Given the description of an element on the screen output the (x, y) to click on. 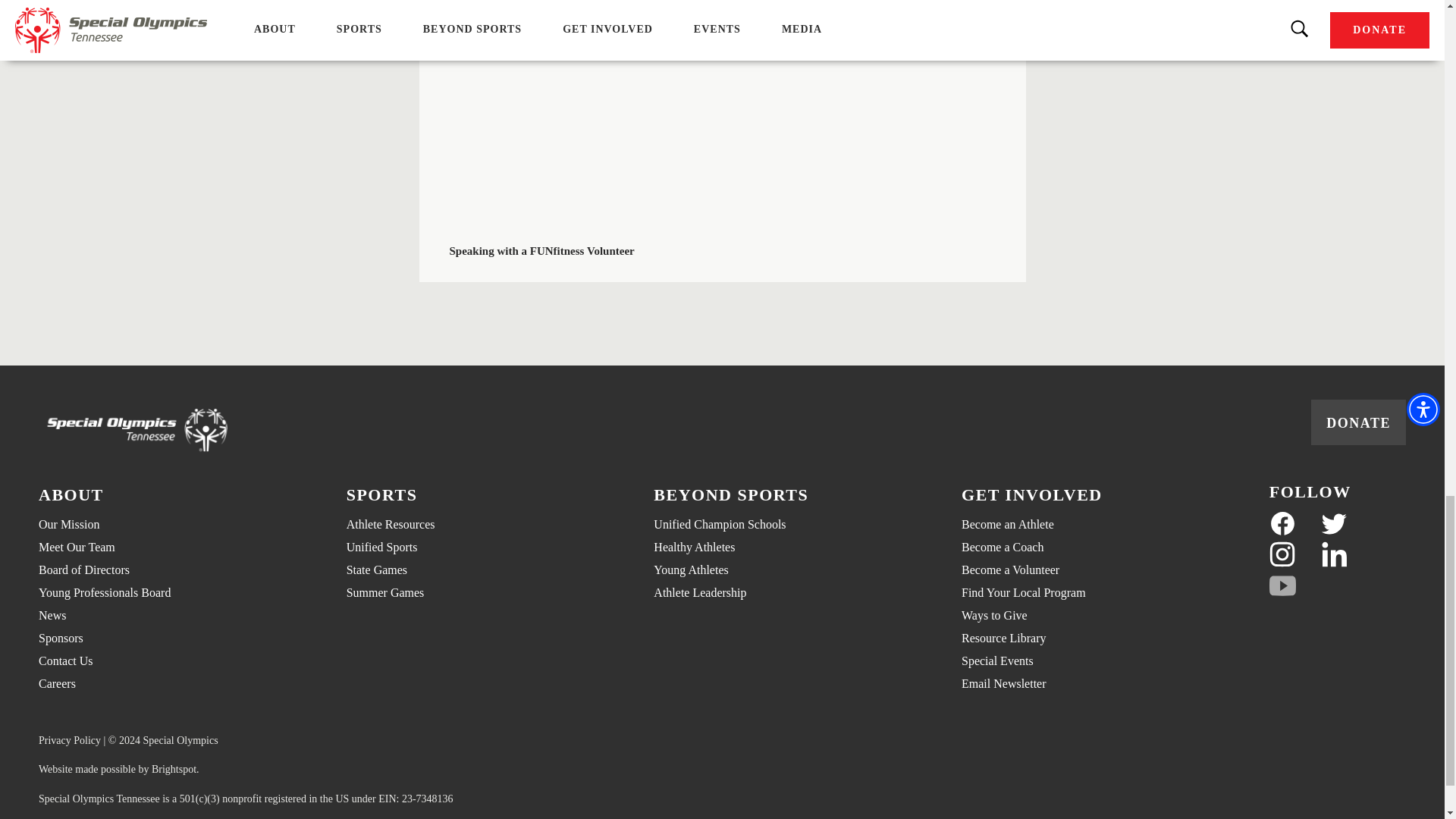
YouTube embedded video player (722, 110)
